Given the description of an element on the screen output the (x, y) to click on. 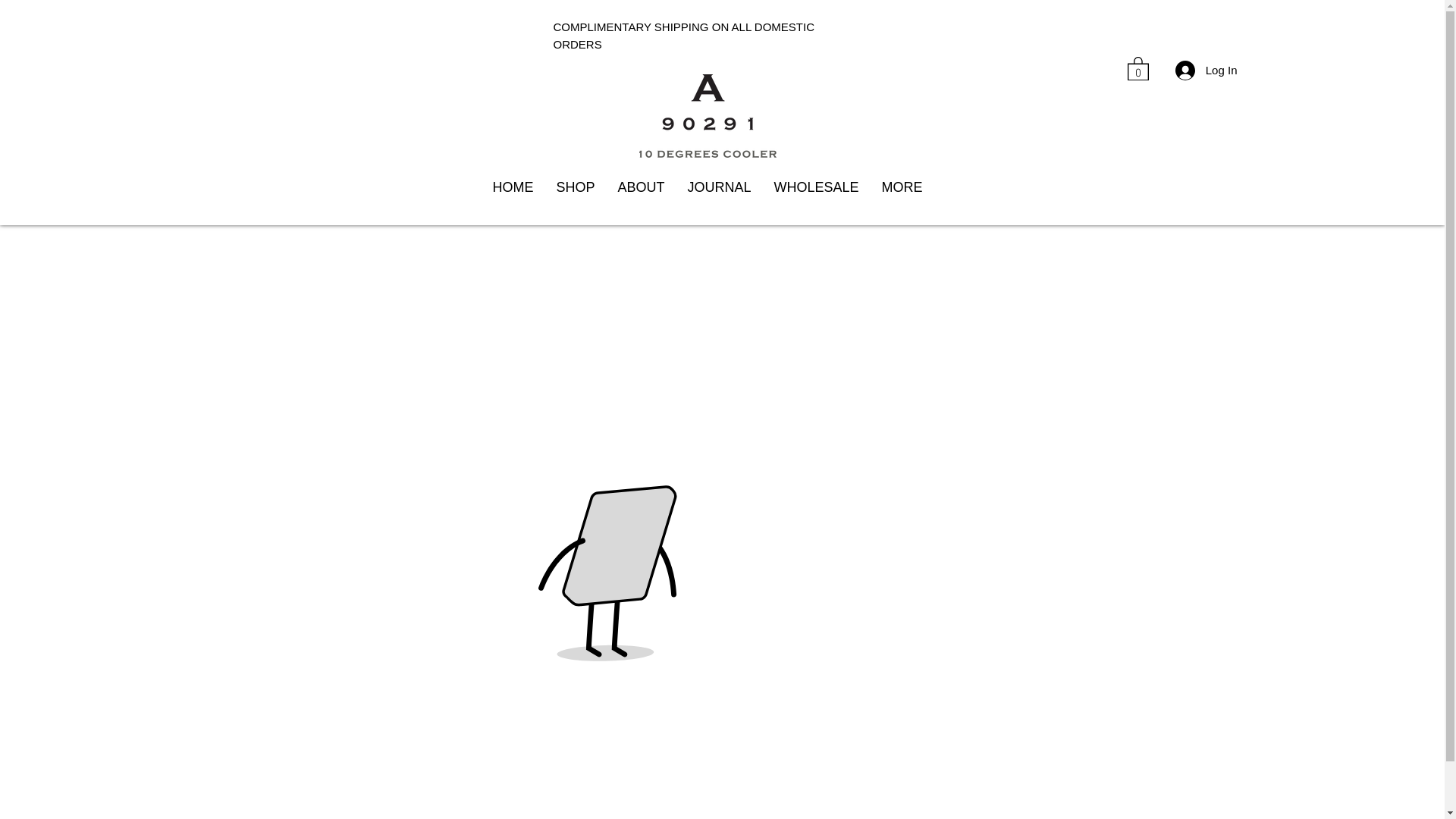
Log In Element type: text (1206, 70)
0 Element type: text (1137, 67)
JOURNAL Element type: text (718, 197)
SHOP Element type: text (574, 197)
HOME Element type: text (512, 197)
WHOLESALE Element type: text (816, 197)
